Given the description of an element on the screen output the (x, y) to click on. 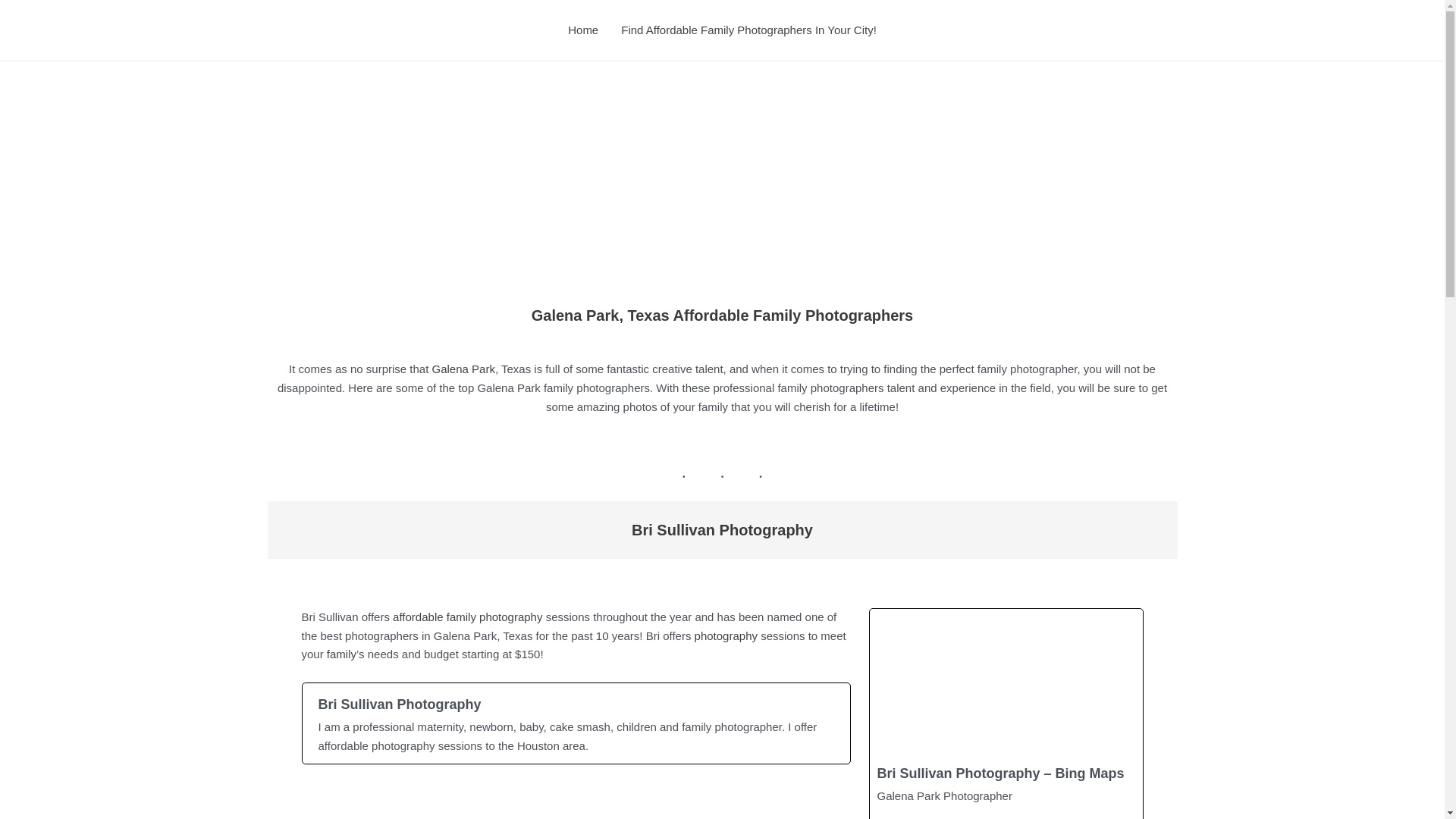
Galena Park (463, 368)
affordable family photography (467, 616)
photography (725, 635)
Bri Sullivan Photography (574, 723)
Find Affordable Family Photographers In Your City! (749, 30)
Bri Sullivan Photography - Bing Maps (1005, 714)
family (341, 653)
